Given the description of an element on the screen output the (x, y) to click on. 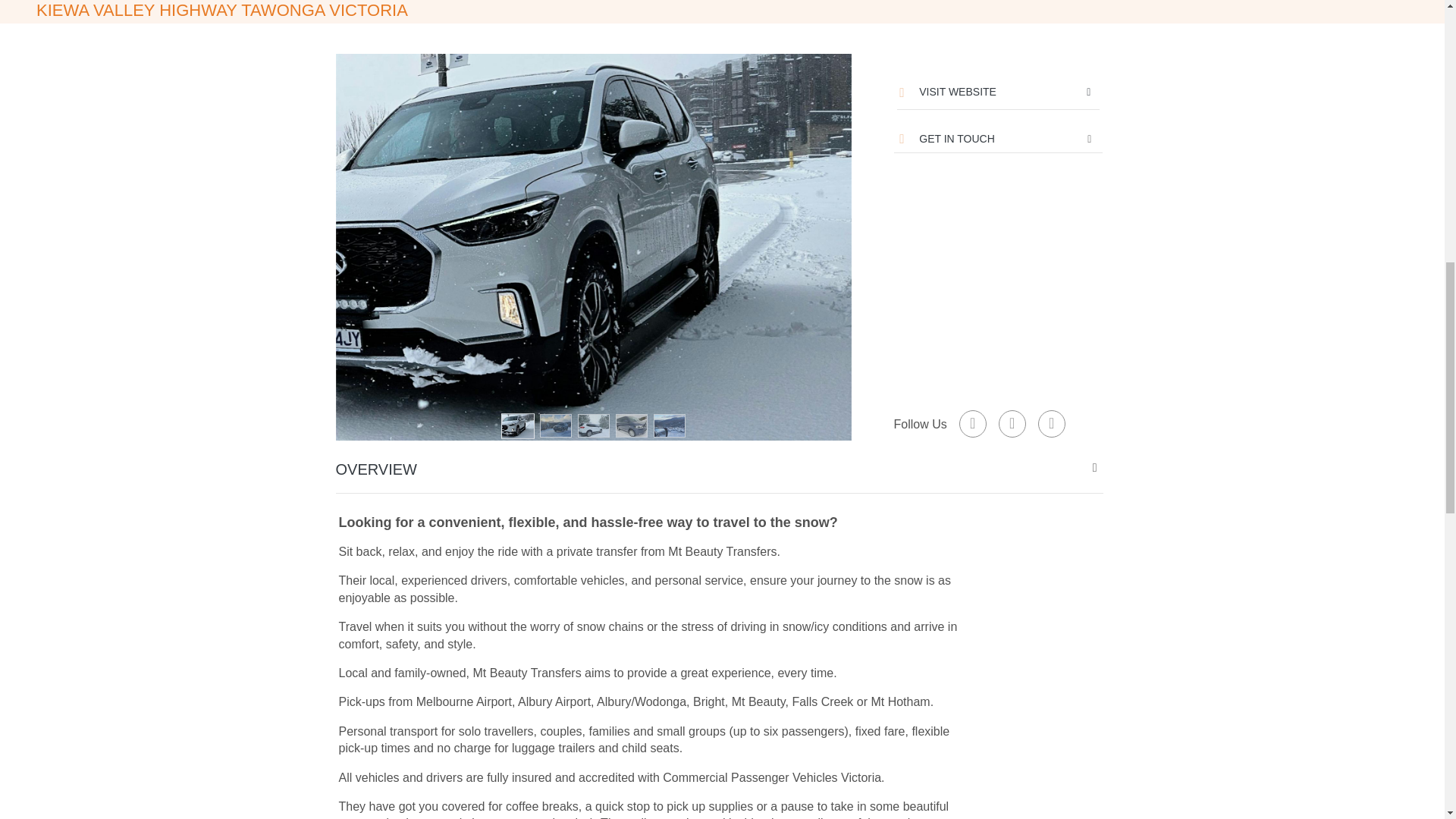
GET IN TOUCH (997, 138)
VISIT WEBSITE (947, 91)
OVERVIEW (721, 469)
